Given the description of an element on the screen output the (x, y) to click on. 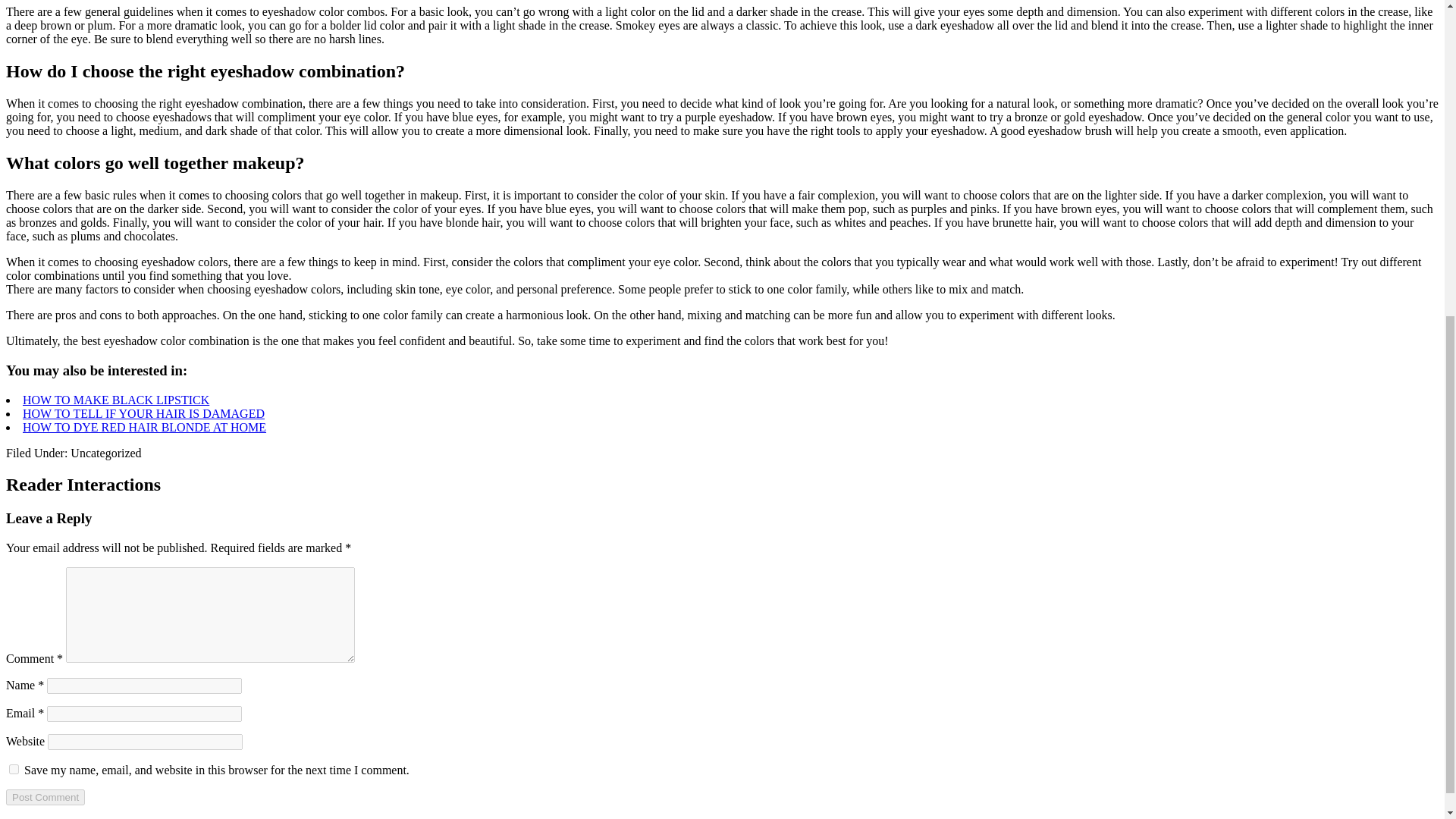
Post Comment (44, 797)
HOW TO MAKE BLACK LIPSTICK (116, 399)
Post Comment (44, 797)
yes (13, 768)
HOW TO TELL IF YOUR HAIR IS DAMAGED (143, 412)
HOW TO DYE RED HAIR BLONDE AT HOME (144, 426)
